Given the description of an element on the screen output the (x, y) to click on. 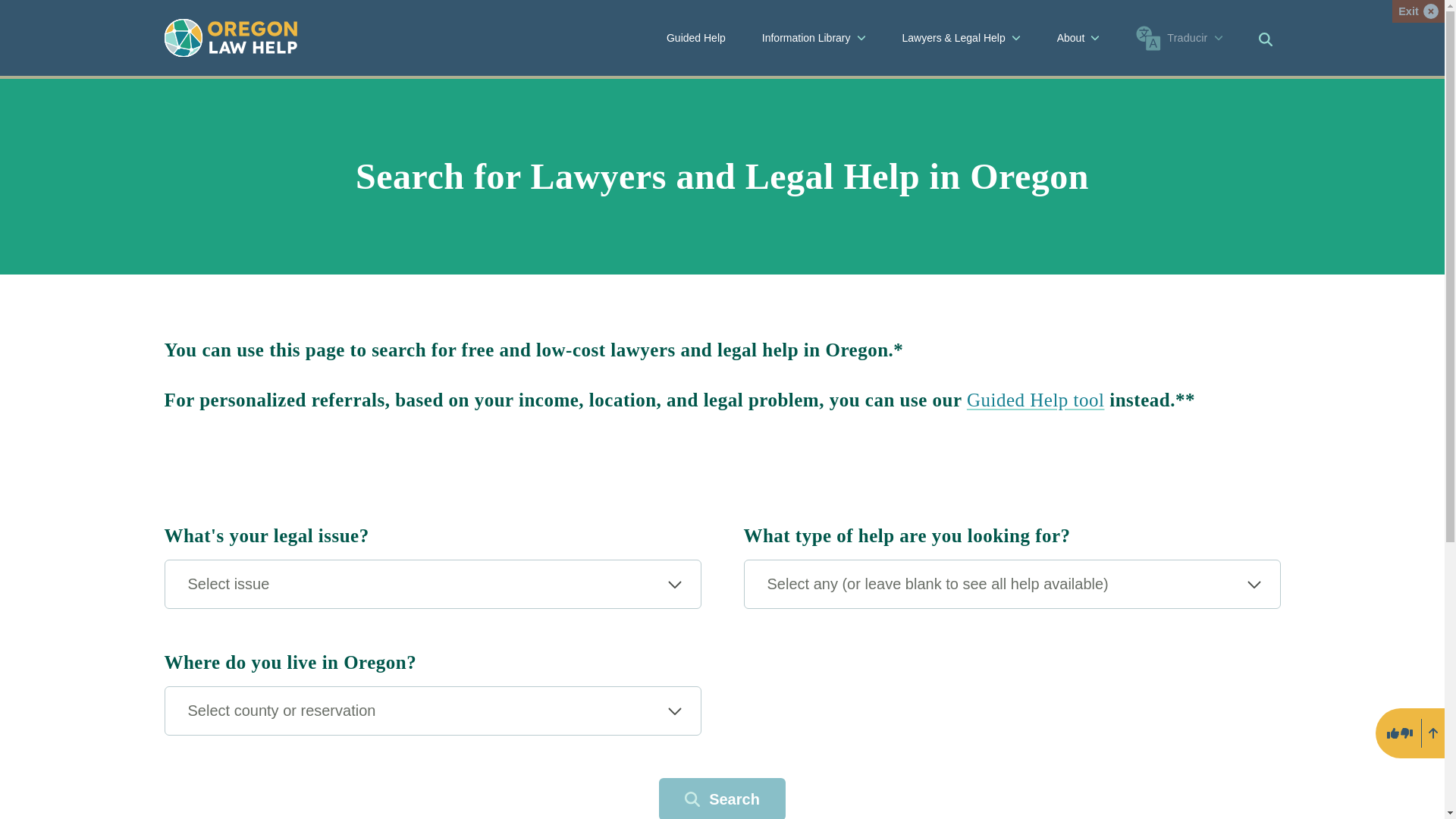
About (1078, 38)
Traducir (1178, 37)
About (1078, 37)
Oregon Law Help (230, 37)
Guided Help (1035, 399)
Guided Help (696, 38)
Information Library (813, 37)
Information Library (813, 38)
